Given the description of an element on the screen output the (x, y) to click on. 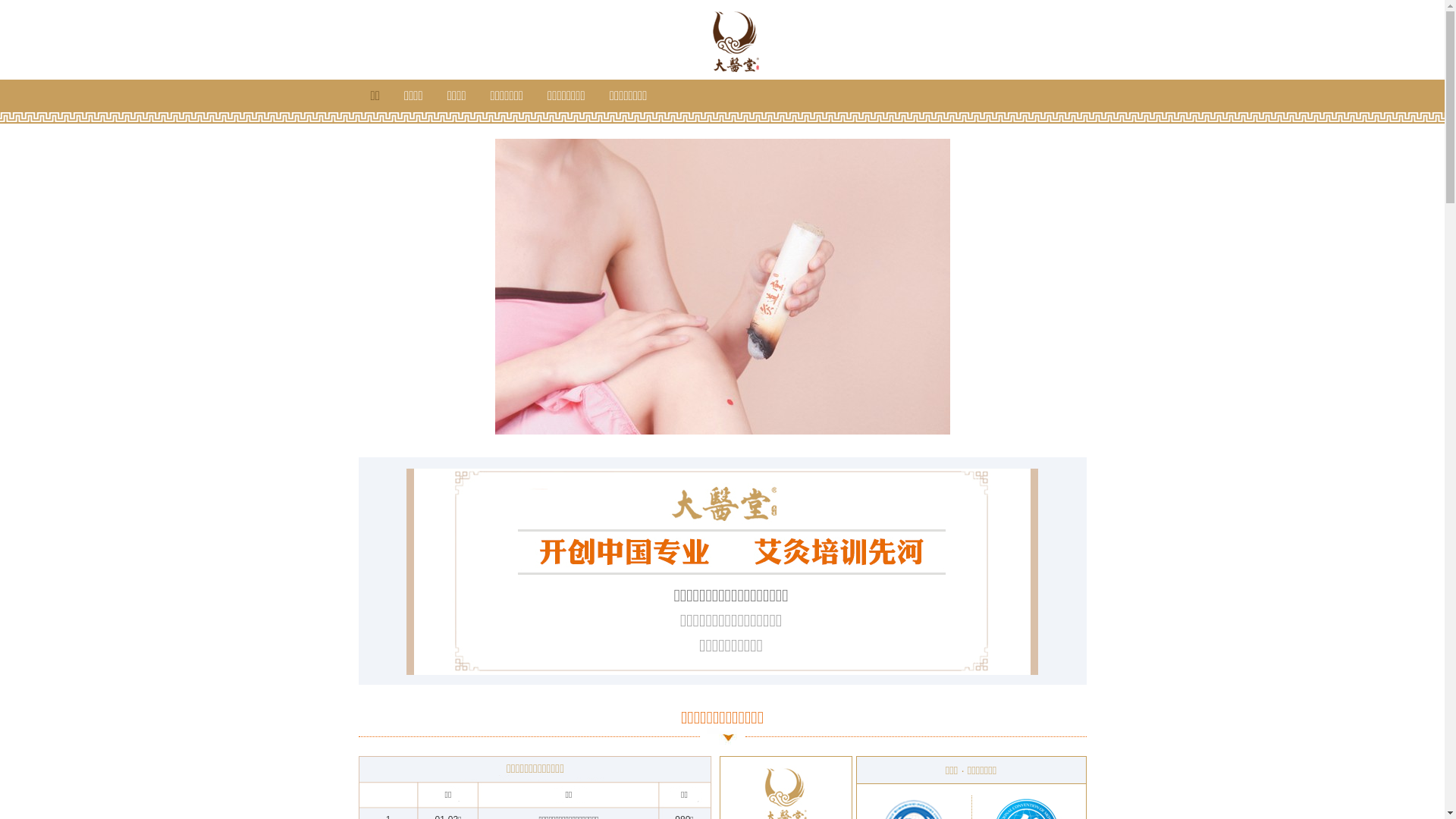
View More Element type: text (722, 327)
